Given the description of an element on the screen output the (x, y) to click on. 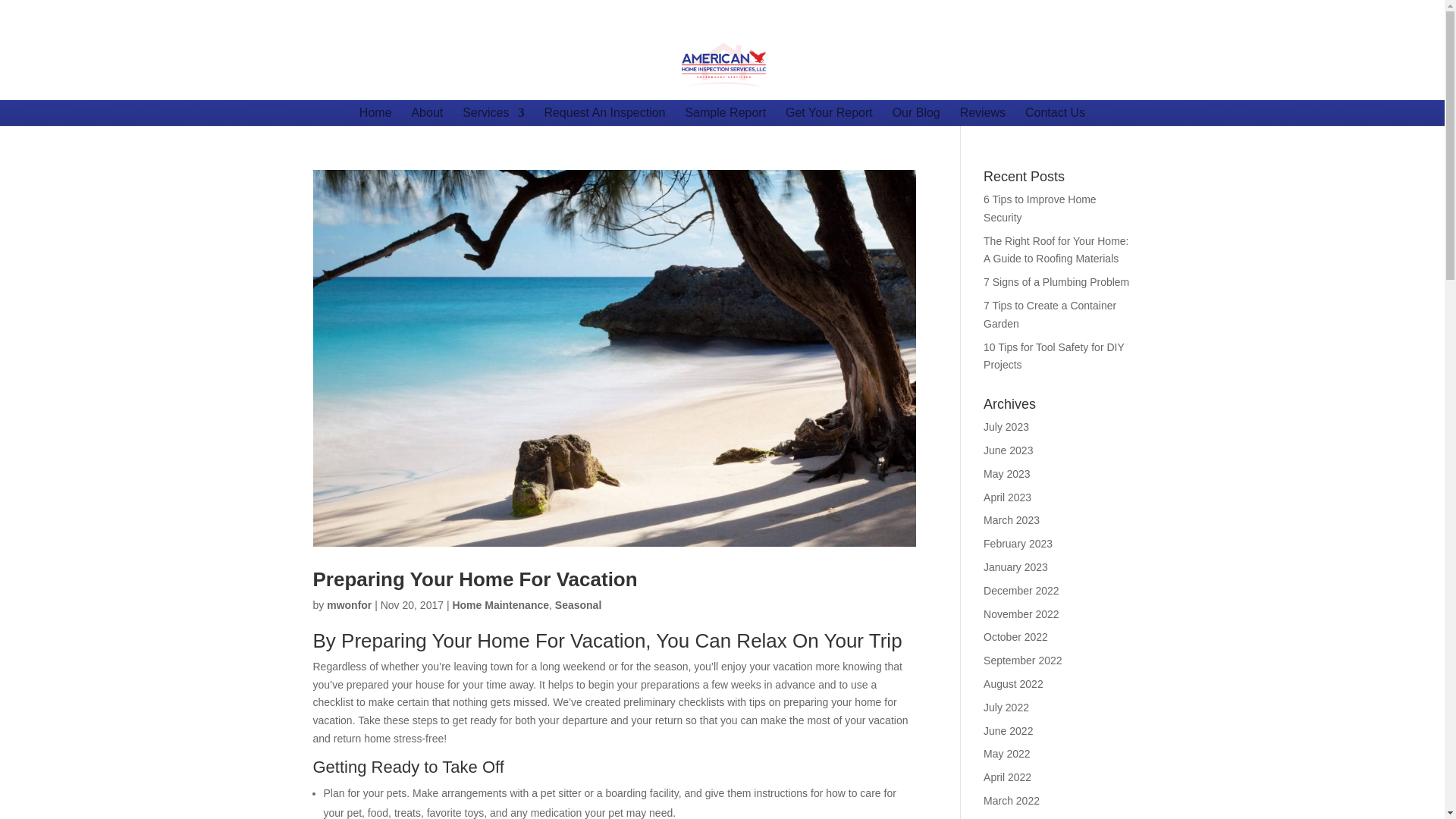
10 Tips for Tool Safety for DIY Projects (1054, 356)
Seasonal (577, 604)
The Right Roof for Your Home: A Guide to Roofing Materials (1056, 250)
June 2023 (1008, 450)
7 Tips to Create a Container Garden (1050, 314)
7 Signs of a Plumbing Problem (1056, 282)
Preparing Your Home For Vacation (475, 579)
Contact Us (1054, 112)
6 Tips to Improve Home Security (1040, 208)
Sample Report (724, 112)
